Given the description of an element on the screen output the (x, y) to click on. 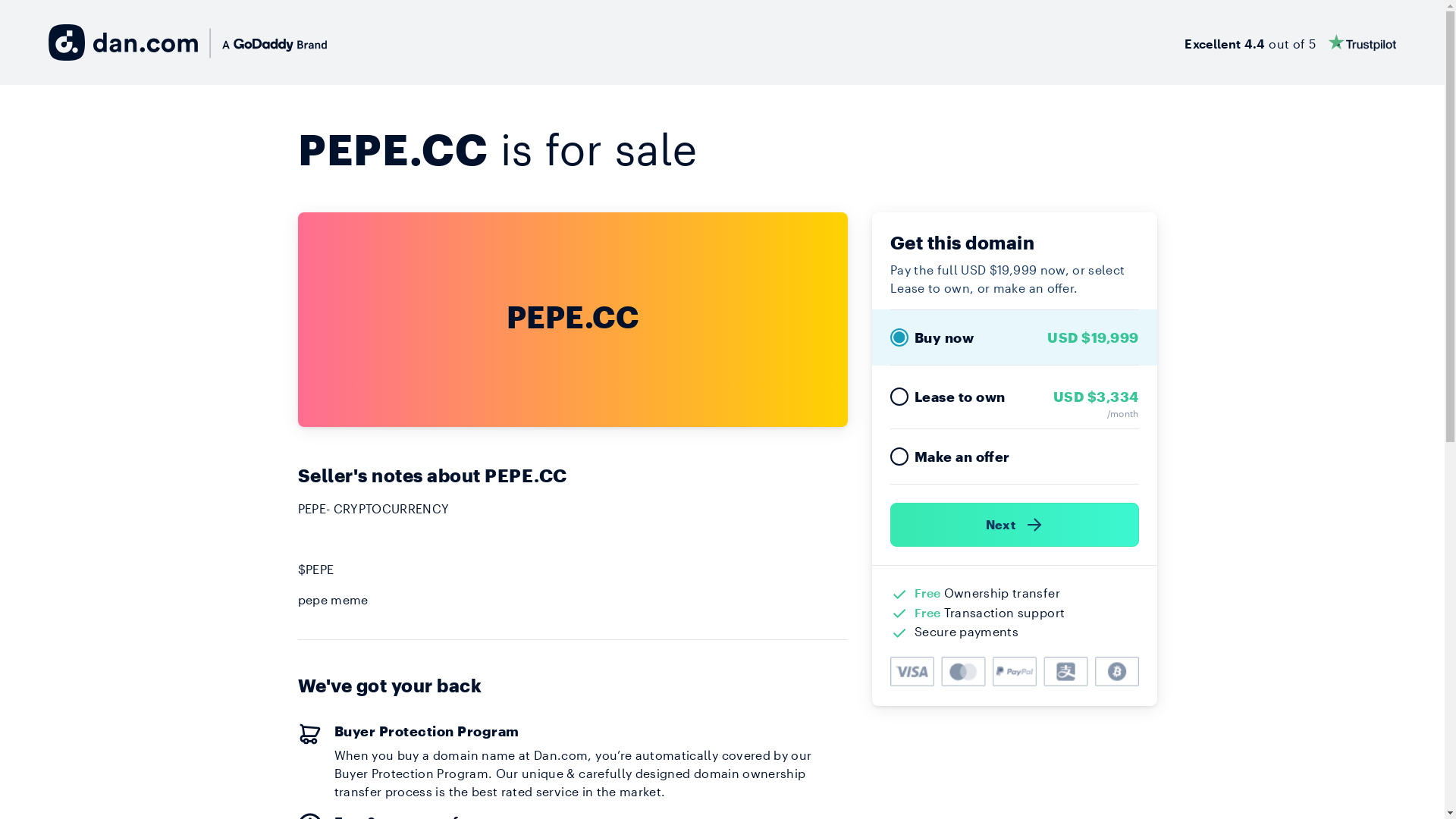
Next
) Element type: text (1014, 524)
Excellent 4.4 out of 5 Element type: text (1290, 42)
